Given the description of an element on the screen output the (x, y) to click on. 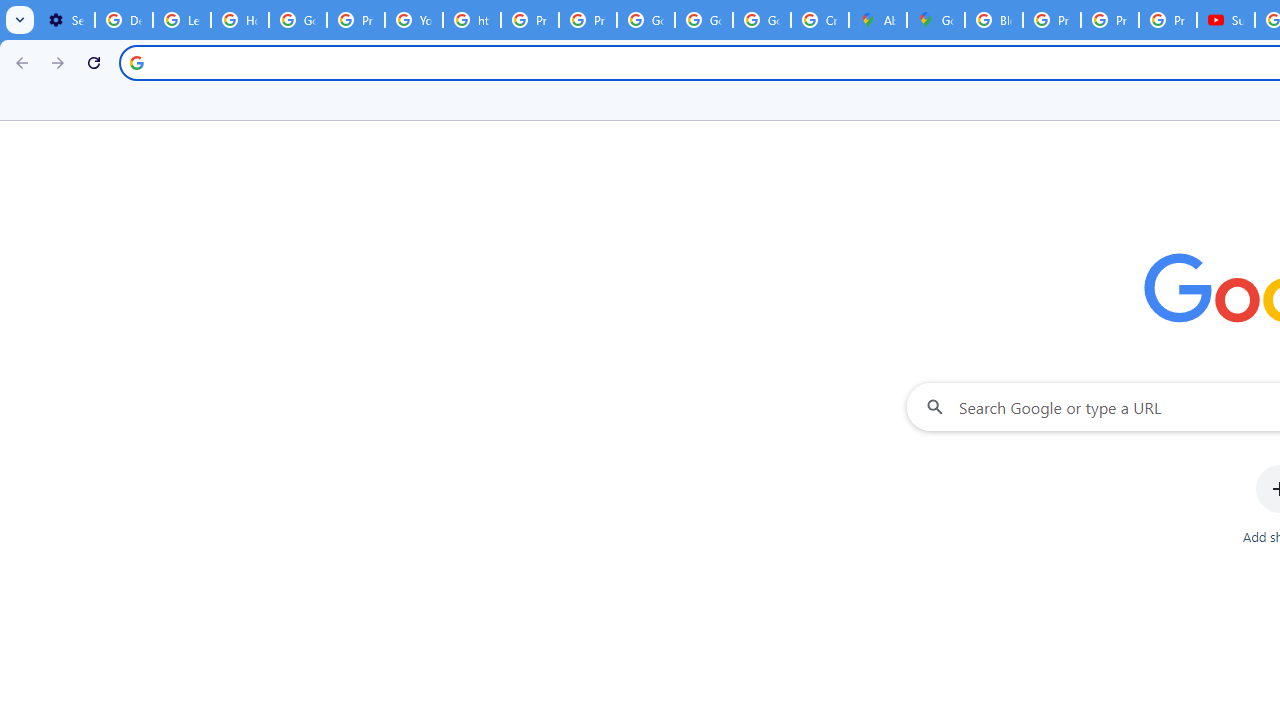
Learn how to find your photos - Google Photos Help (181, 20)
Google Maps (936, 20)
Privacy Help Center - Policies Help (529, 20)
Delete photos & videos - Computer - Google Photos Help (123, 20)
Blogger Policies and Guidelines - Transparency Center (993, 20)
YouTube (413, 20)
Google Account Help (297, 20)
System (10, 11)
System (10, 11)
Privacy Help Center - Policies Help (1110, 20)
Create your Google Account (819, 20)
Forward (57, 62)
